Given the description of an element on the screen output the (x, y) to click on. 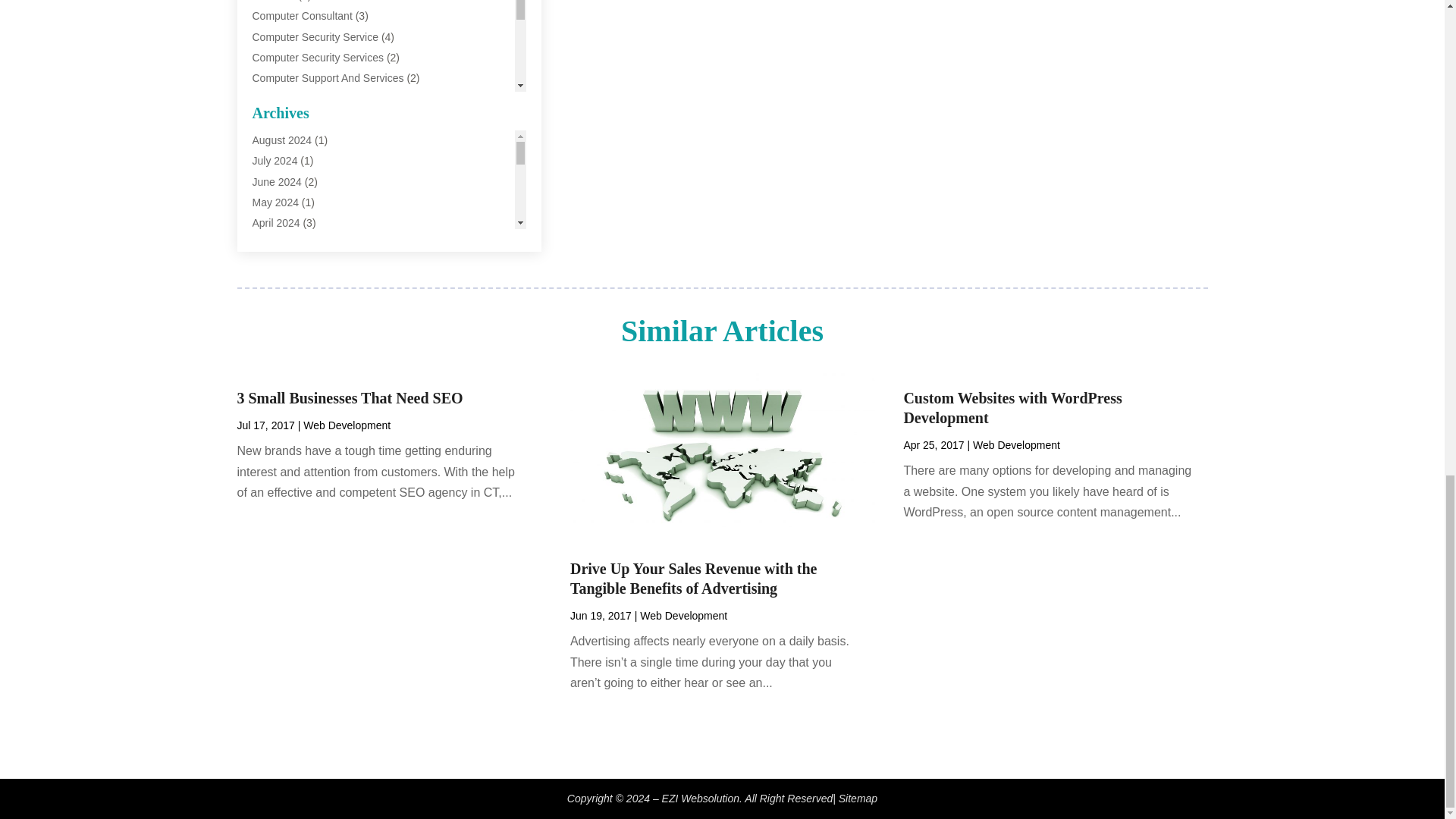
Internet Marketing (294, 181)
Information Technology And Services (338, 160)
Internet Service Provider (309, 222)
Computer Consultant (301, 15)
Computer Security Services (317, 57)
Supply Chain Management (315, 325)
Web Development Software (317, 387)
IT Support (276, 242)
Web Design (279, 345)
Computer Support And Services (327, 78)
